Given the description of an element on the screen output the (x, y) to click on. 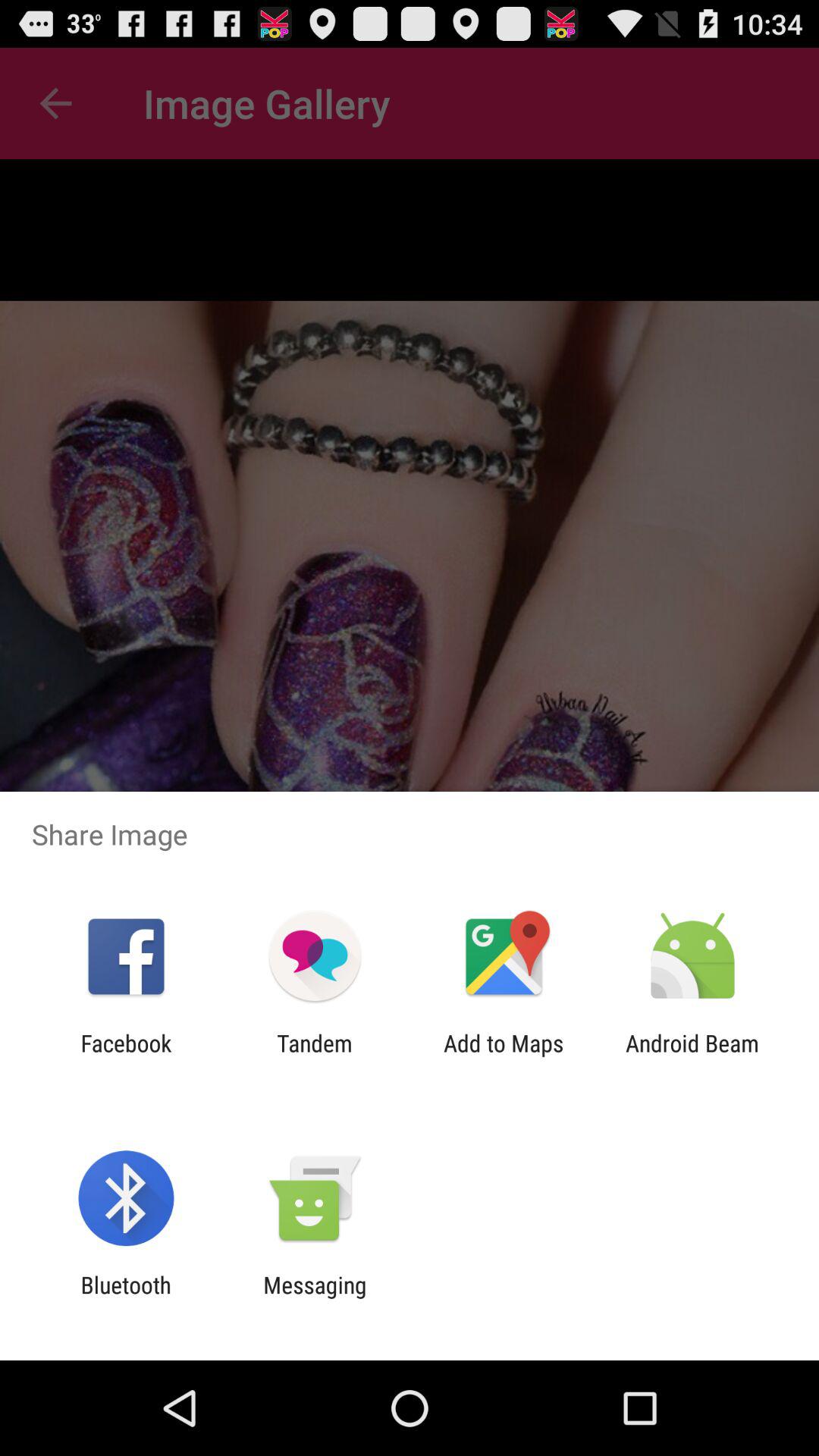
open item next to bluetooth app (314, 1298)
